Given the description of an element on the screen output the (x, y) to click on. 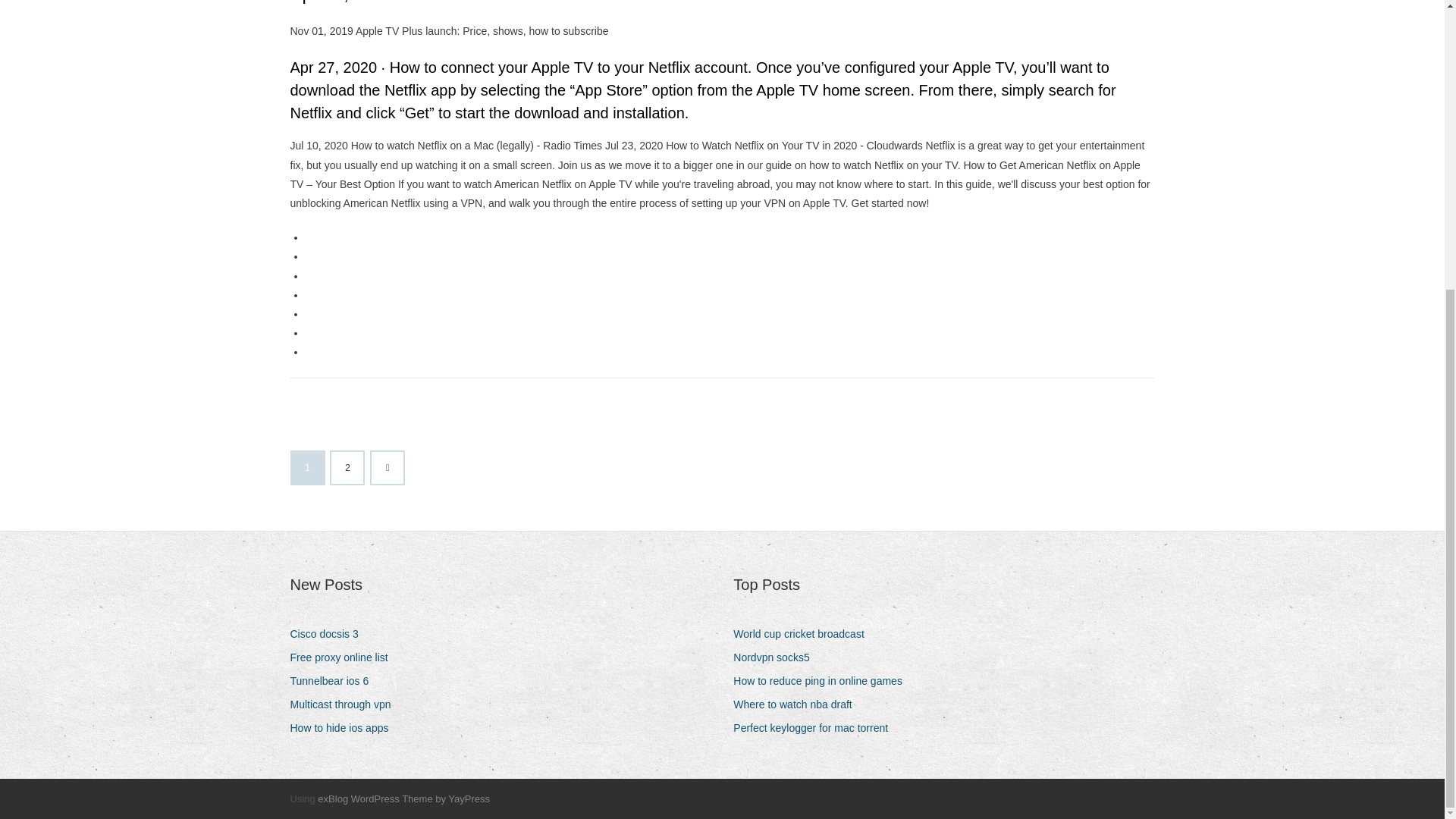
Free proxy online list (343, 657)
How to hide ios apps (343, 728)
exBlog WordPress Theme by YayPress (403, 798)
Perfect keylogger for mac torrent (816, 728)
Cisco docsis 3 (329, 634)
World cup cricket broadcast (804, 634)
Tunnelbear ios 6 (334, 680)
How to reduce ping in online games (823, 680)
Nordvpn socks5 (777, 657)
2 (346, 468)
Where to watch nba draft (798, 704)
Multicast through vpn (345, 704)
